Given the description of an element on the screen output the (x, y) to click on. 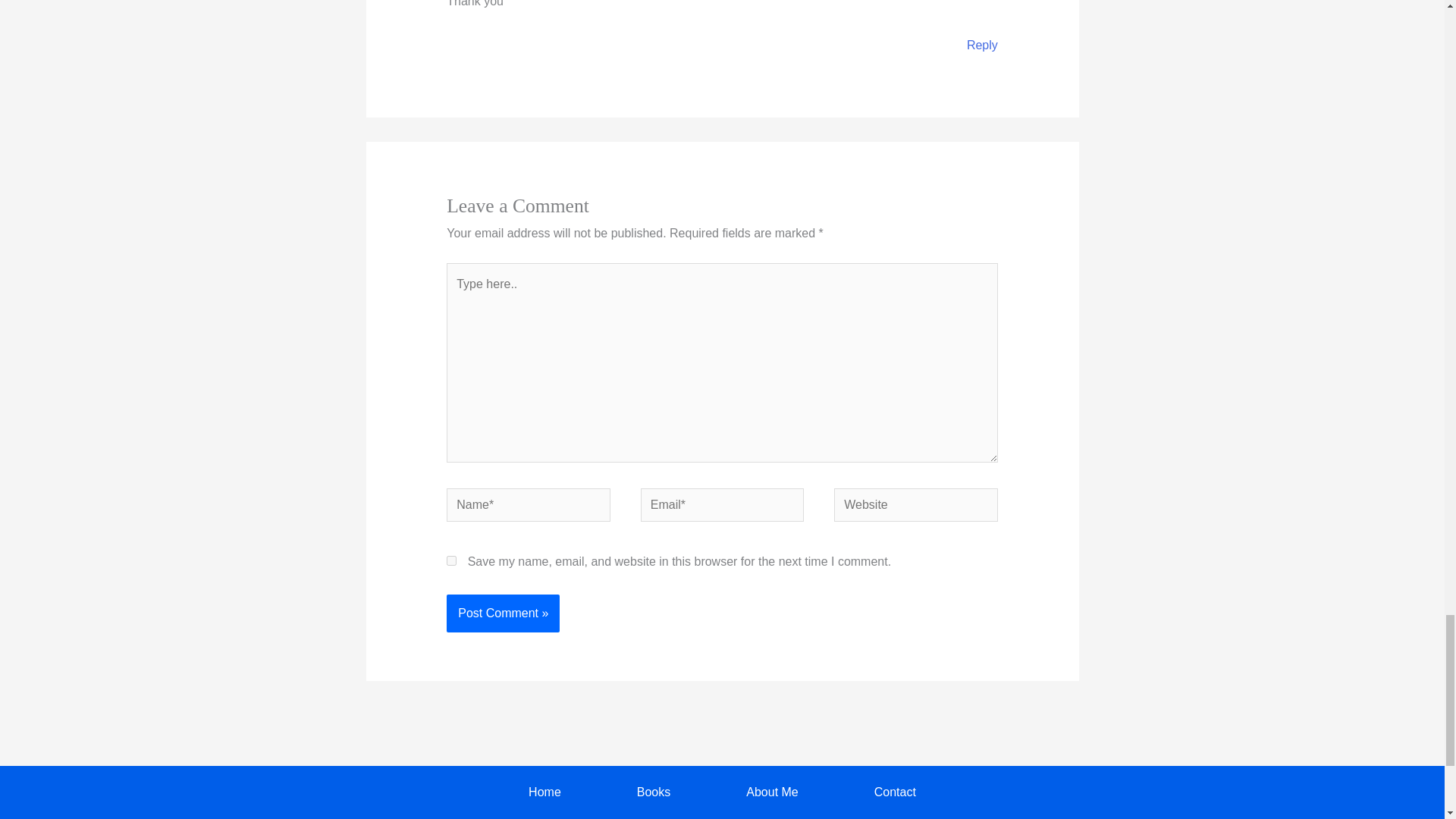
yes (451, 560)
Books (652, 791)
About Me (771, 791)
Contact (894, 791)
Home (544, 791)
Reply (981, 44)
